Given the description of an element on the screen output the (x, y) to click on. 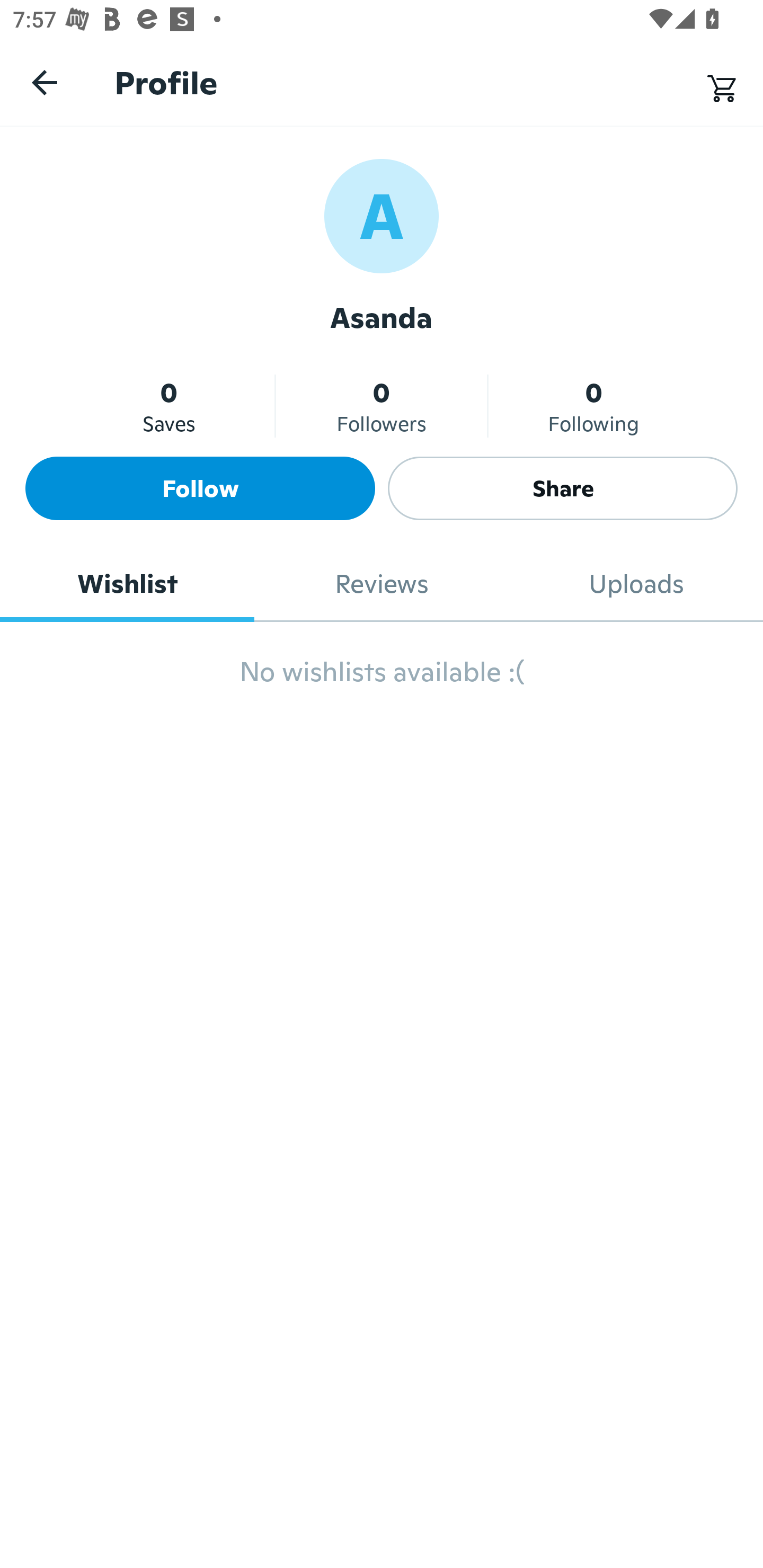
Navigate up (44, 82)
A (381, 215)
0 Followers (381, 405)
0 Following (593, 405)
Follow (200, 488)
Share (562, 488)
Wishlist (127, 583)
Reviews (381, 583)
Uploads (635, 583)
No wishlists available :( (381, 679)
